Given the description of an element on the screen output the (x, y) to click on. 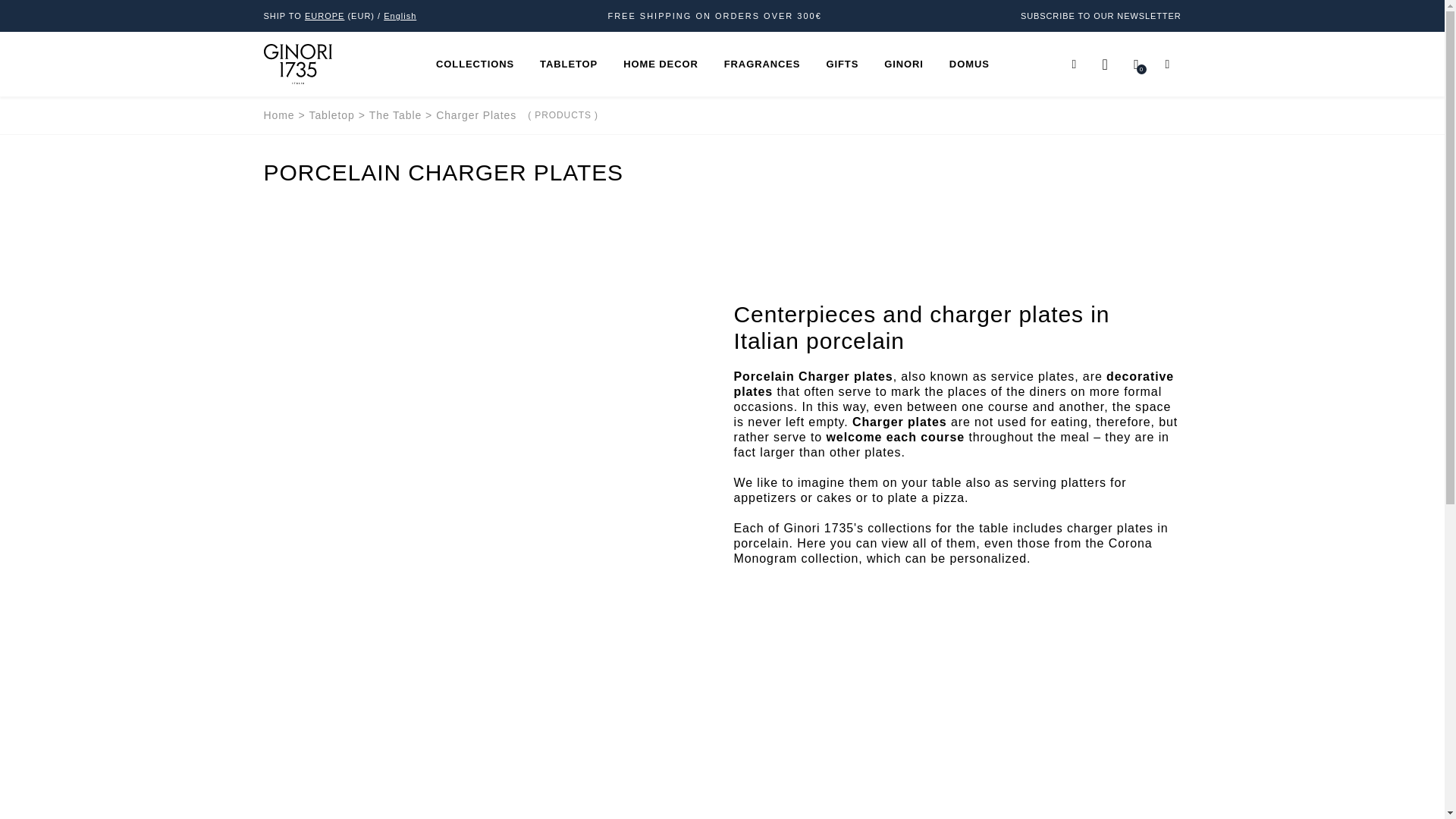
Newsletter (1100, 16)
COLLECTIONS (475, 63)
SUBSCRIBE TO OUR NEWSLETTER (1100, 16)
TABLETOP (568, 63)
